Given the description of an element on the screen output the (x, y) to click on. 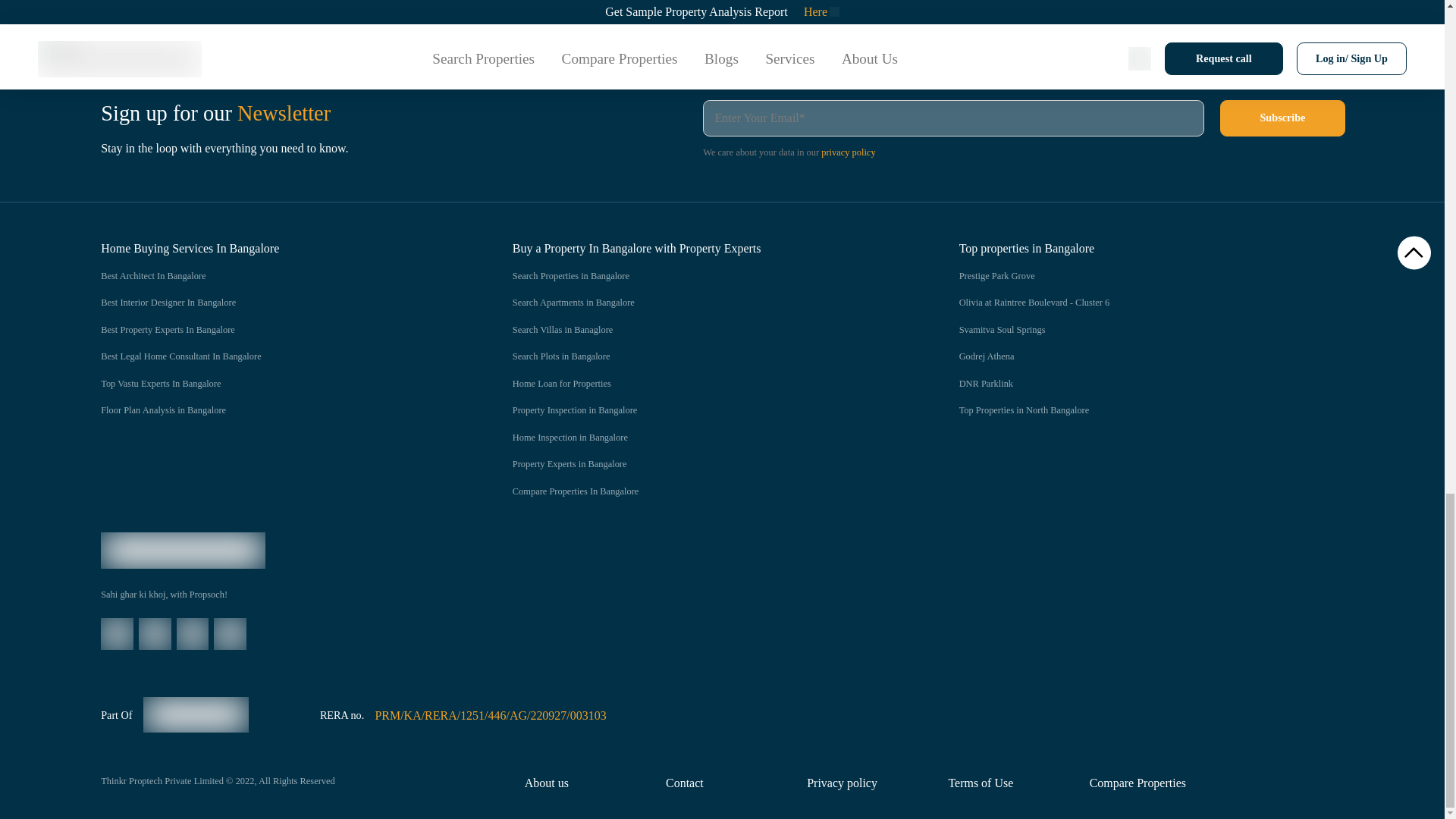
Svamitva Soul Springs (1152, 330)
Search Villas in Banaglore (705, 330)
Property Inspection in Bangalore (705, 410)
DNR Parklink (1152, 384)
Compare Properties In Bangalore (705, 491)
Best Interior Designer In Bangalore (275, 303)
Search Properties in Bangalore (705, 276)
Floor Plan Analysis in Bangalore (275, 410)
privacy policy (848, 152)
Best Legal Home Consultant In Bangalore (275, 356)
